Given the description of an element on the screen output the (x, y) to click on. 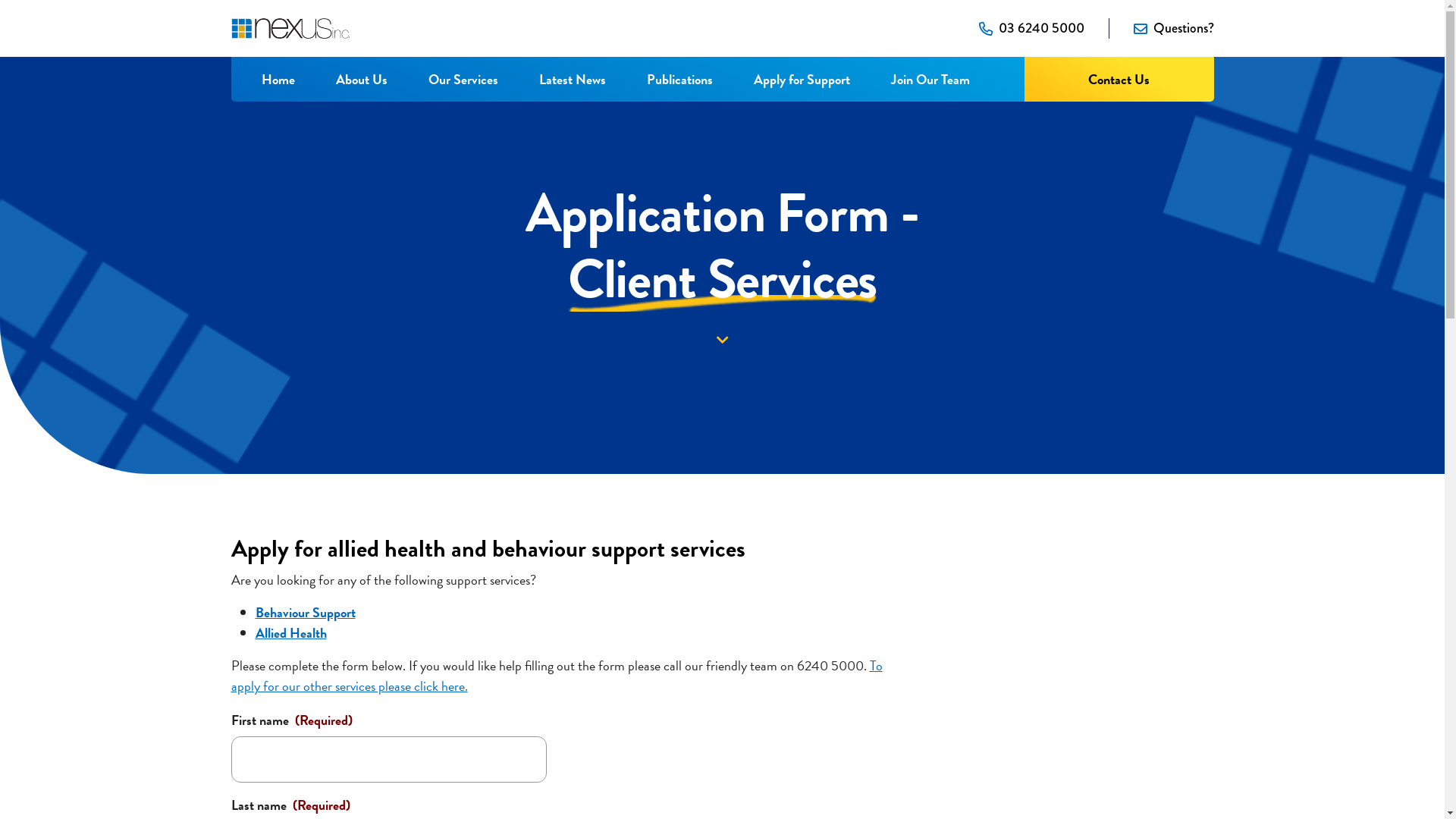
Questions? Element type: text (1182, 28)
To apply for our other services please click here. Element type: text (555, 675)
Apply for Support Element type: text (801, 79)
Our Services Element type: text (462, 79)
Behaviour Support Element type: text (304, 612)
03 6240 5000 Element type: text (1040, 28)
Contact Us Element type: text (1118, 78)
About Us Element type: text (360, 79)
Home Element type: text (277, 79)
Publications Element type: text (679, 79)
Allied Health Element type: text (290, 632)
Join Our Team Element type: text (929, 79)
Latest News Element type: text (571, 79)
